Given the description of an element on the screen output the (x, y) to click on. 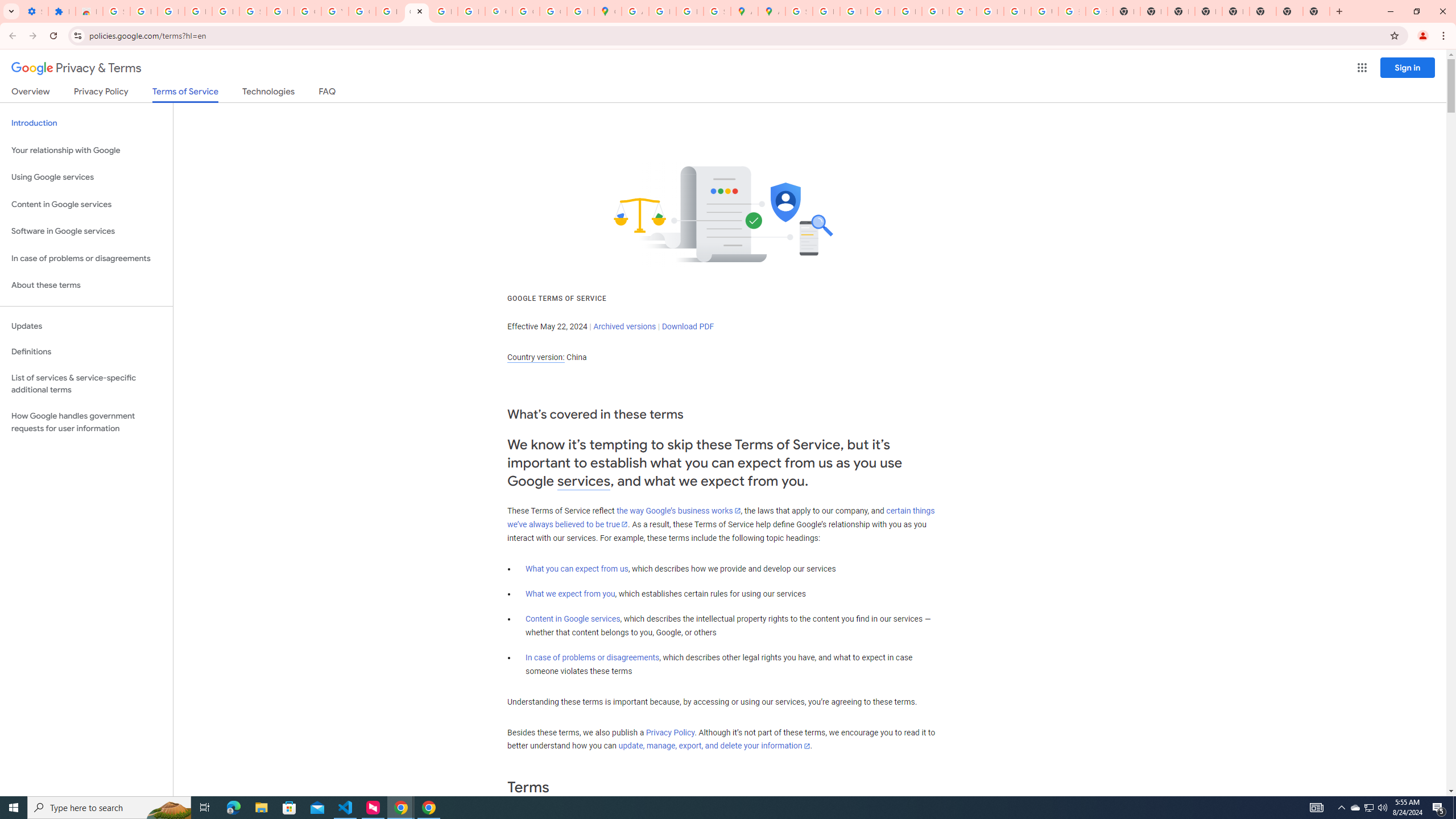
Privacy Help Center - Policies Help (853, 11)
Privacy Help Center - Policies Help (880, 11)
